Given the description of an element on the screen output the (x, y) to click on. 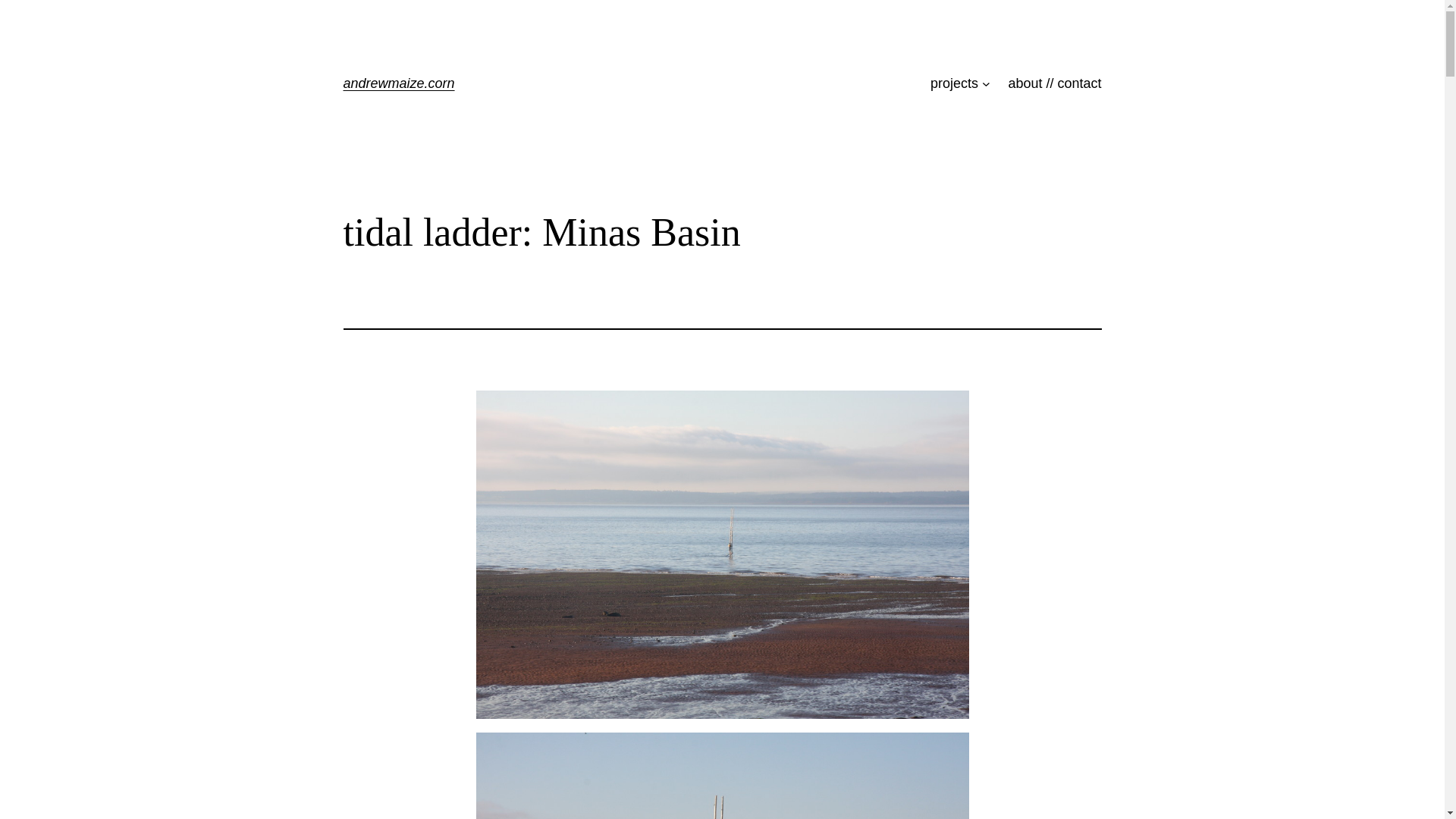
projects Element type: text (954, 83)
andrewmaize.corn Element type: text (398, 83)
about // contact Element type: text (1054, 83)
